Given the description of an element on the screen output the (x, y) to click on. 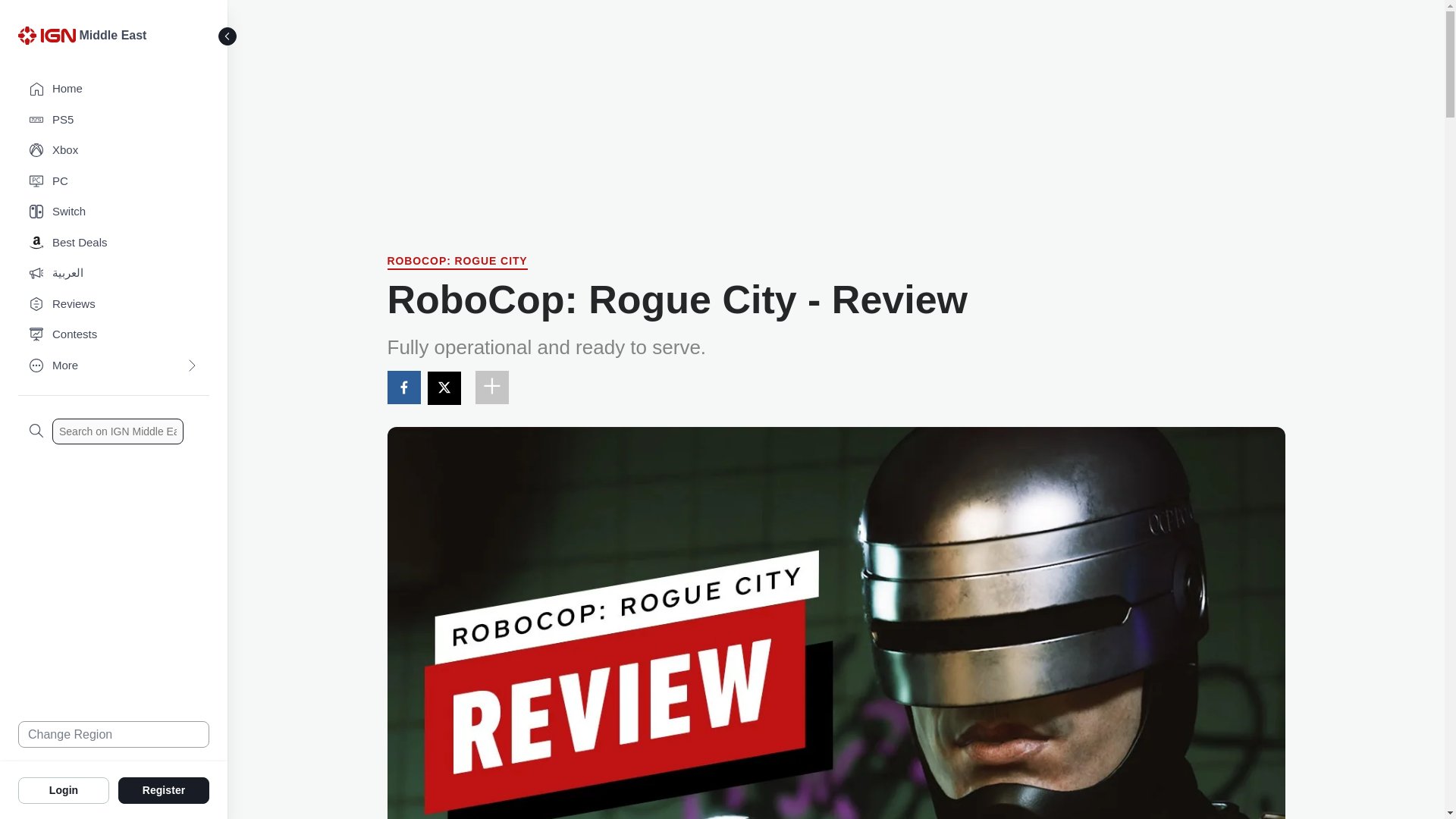
Reviews (113, 304)
Contests (113, 334)
Register (163, 789)
Home (113, 89)
IGN Logo (48, 39)
IGN Logo (46, 34)
Toggle Sidebar (226, 36)
Login (63, 789)
Xbox (113, 150)
Switch (113, 211)
ROBOCOP: ROGUE CITY (457, 262)
PC (113, 181)
PS5 (113, 119)
More (113, 365)
Best Deals (113, 242)
